Given the description of an element on the screen output the (x, y) to click on. 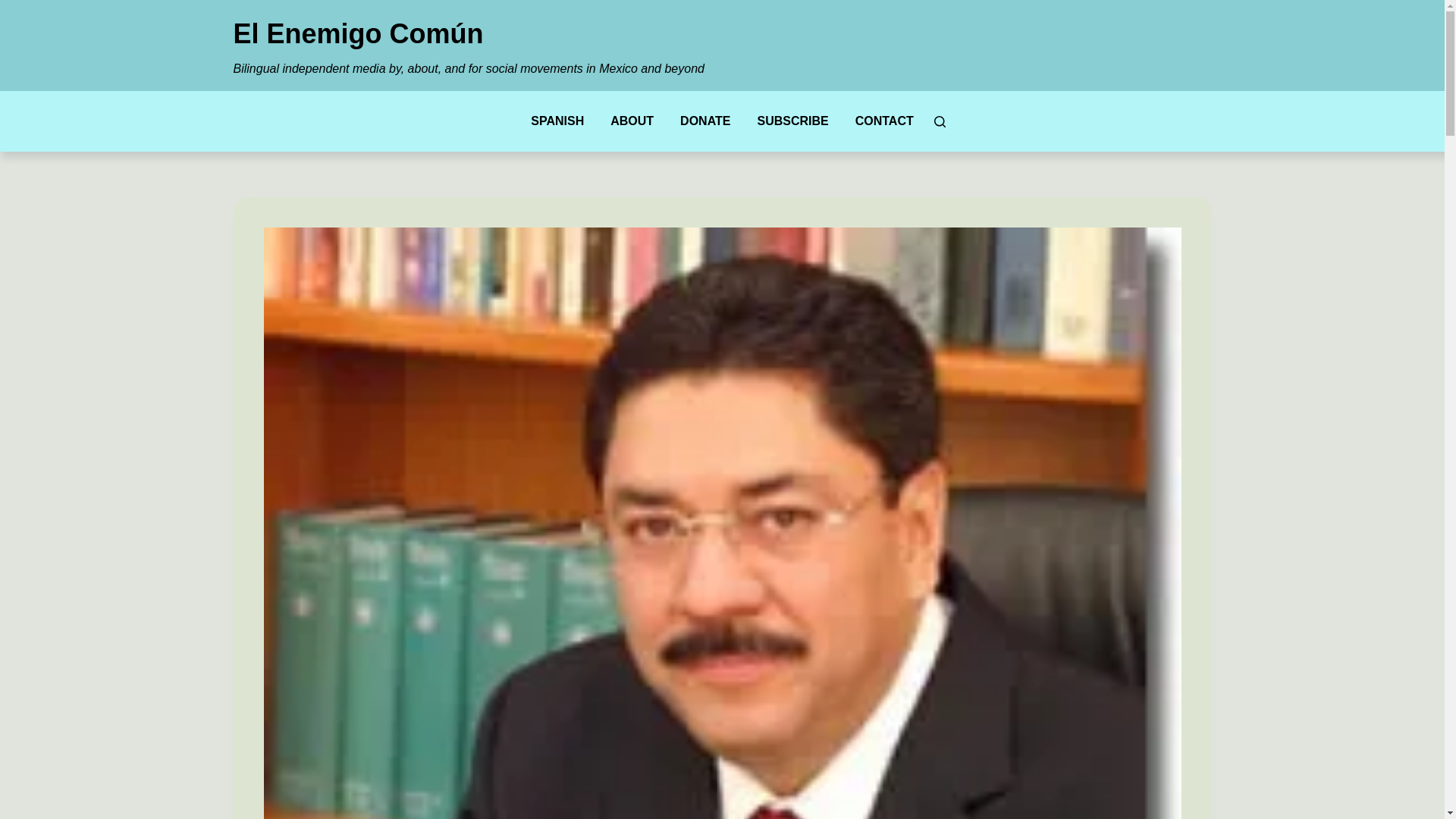
CONTACT (883, 120)
ABOUT (631, 120)
Spanish (557, 120)
SPANISH (557, 120)
Skip to content (15, 7)
DONATE (705, 120)
SUBSCRIBE (792, 120)
